Given the description of an element on the screen output the (x, y) to click on. 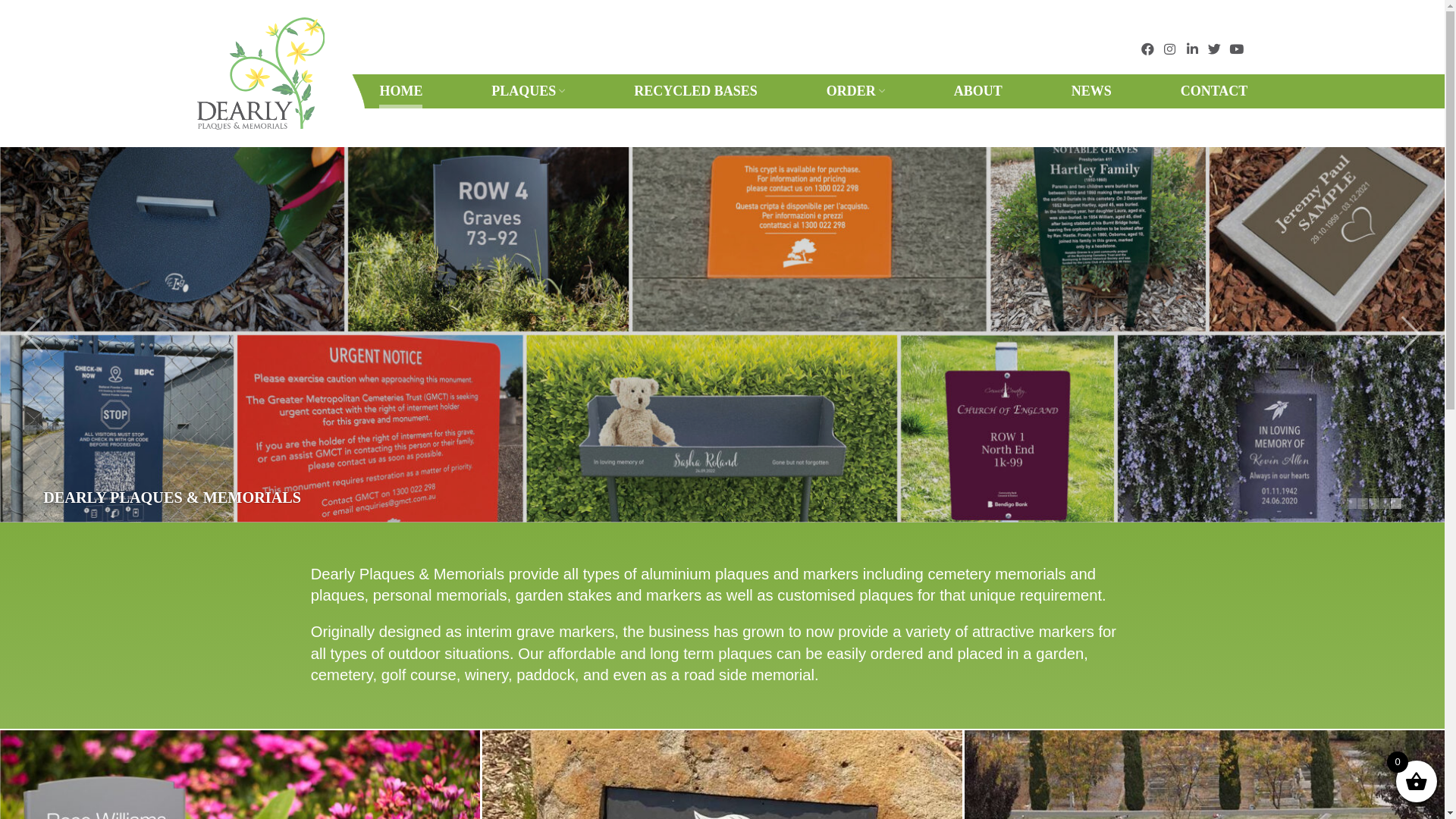
5 Element type: text (1395, 503)
3 Element type: text (1373, 503)
HOME Element type: text (400, 91)
ORDER Element type: text (855, 91)
4 Element type: text (1385, 503)
2 Element type: text (1362, 503)
RECYCLED BASES Element type: text (695, 91)
NEWS Element type: text (1091, 91)
ABOUT Element type: text (977, 91)
PLAQUES Element type: text (527, 91)
CONTACT Element type: text (1214, 91)
1 Element type: text (1351, 503)
